Given the description of an element on the screen output the (x, y) to click on. 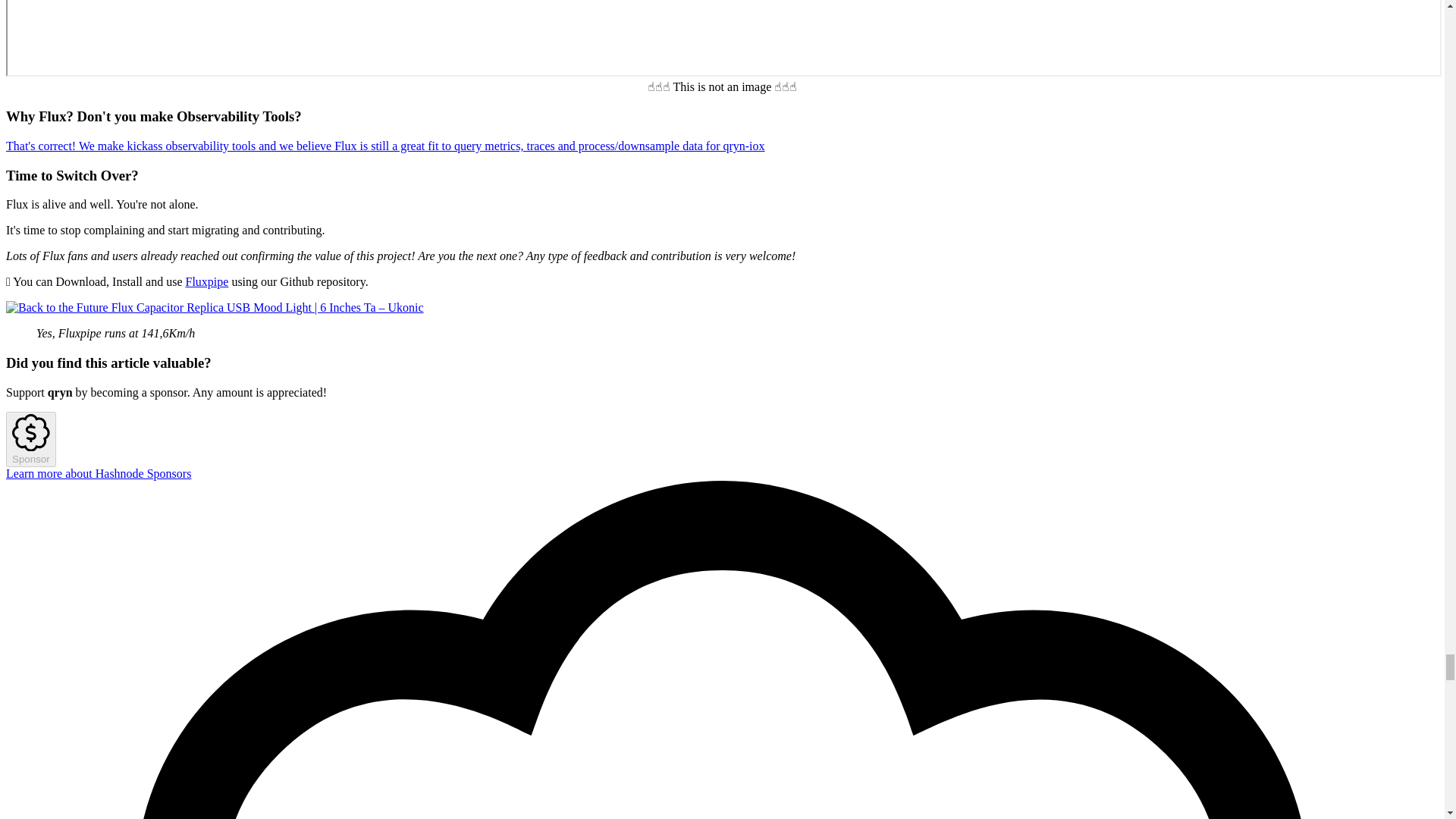
Sponsor (30, 439)
Fluxpipe (206, 281)
Learn more about Hashnode Sponsors (97, 472)
